Given the description of an element on the screen output the (x, y) to click on. 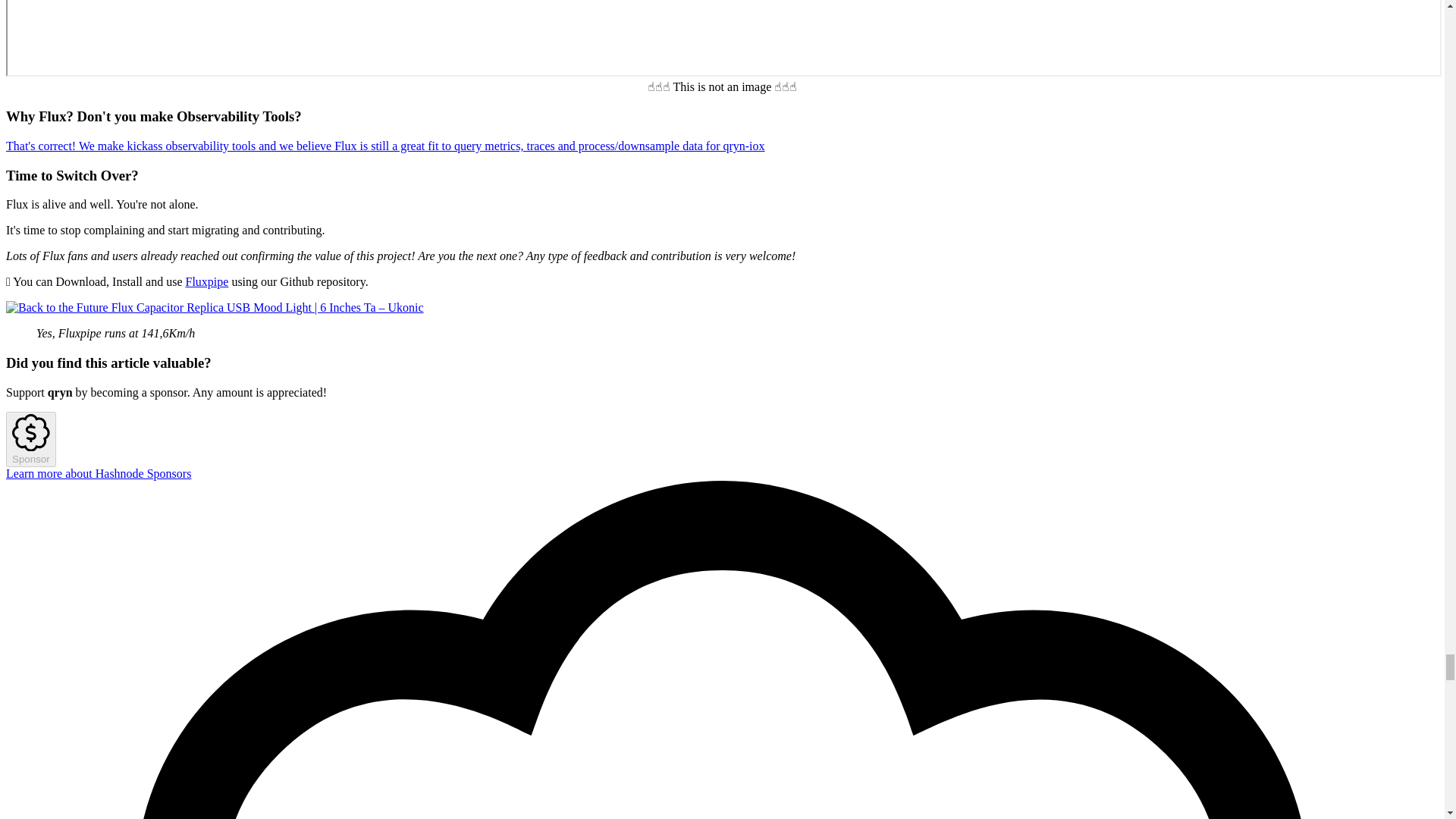
Sponsor (30, 439)
Fluxpipe (206, 281)
Learn more about Hashnode Sponsors (97, 472)
